Given the description of an element on the screen output the (x, y) to click on. 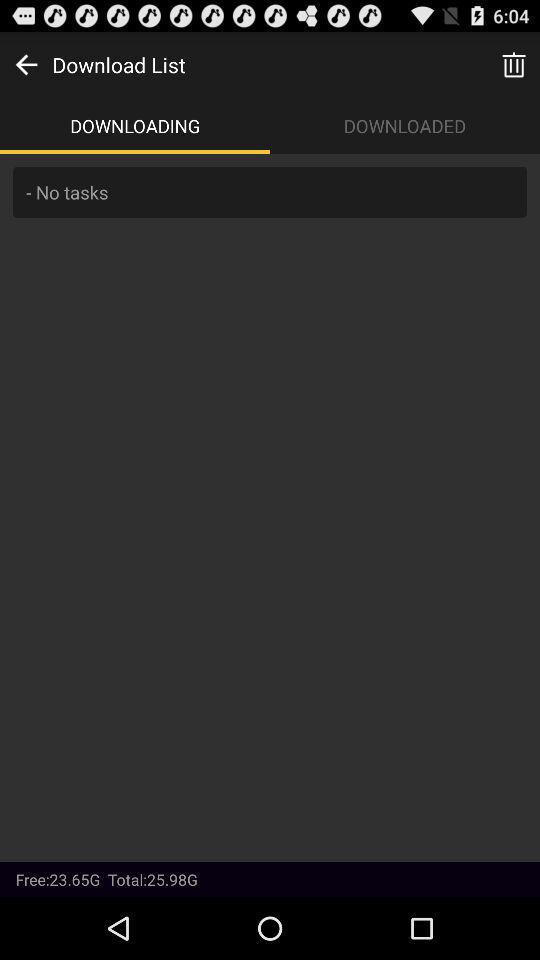
no tasks (270, 507)
